Given the description of an element on the screen output the (x, y) to click on. 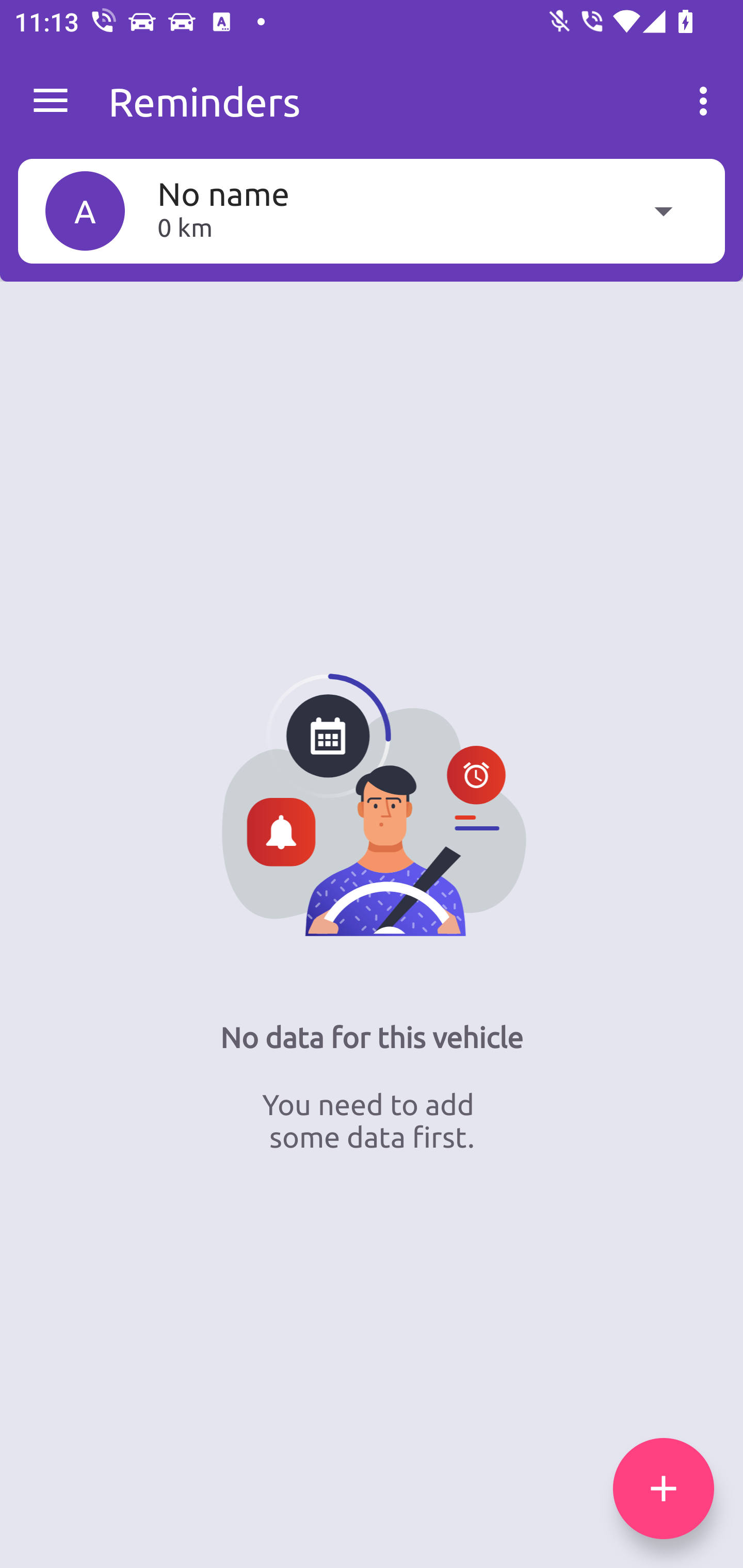
Fuelio (50, 101)
More options (706, 101)
A No name 0 km (371, 210)
